Given the description of an element on the screen output the (x, y) to click on. 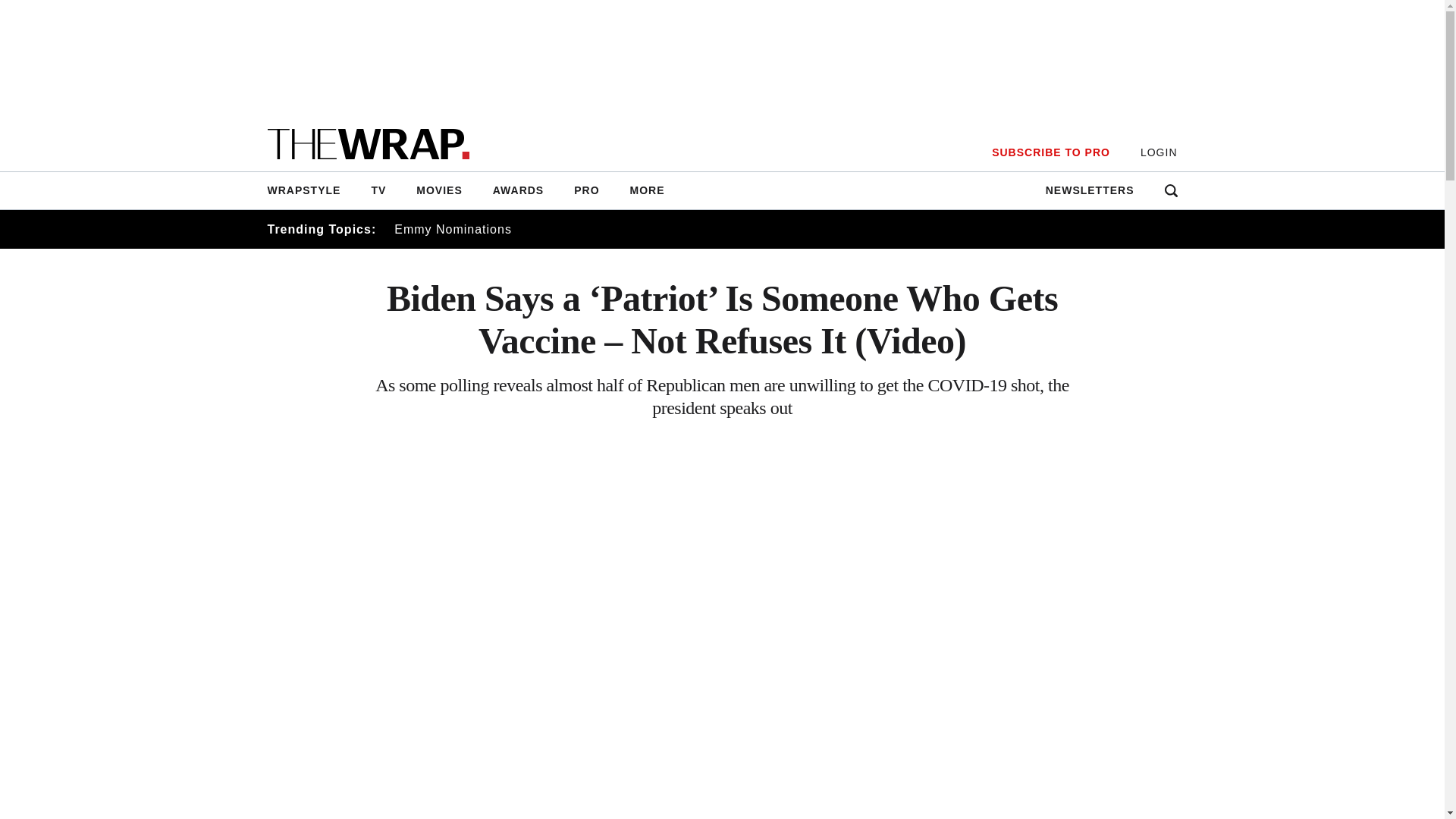
AWARDS (518, 190)
SUBSCRIBE TO PRO (1050, 152)
WRAPSTYLE (310, 190)
MORE (646, 190)
LOGIN (1158, 152)
TV (378, 190)
MOVIES (439, 190)
PRO (586, 190)
